Given the description of an element on the screen output the (x, y) to click on. 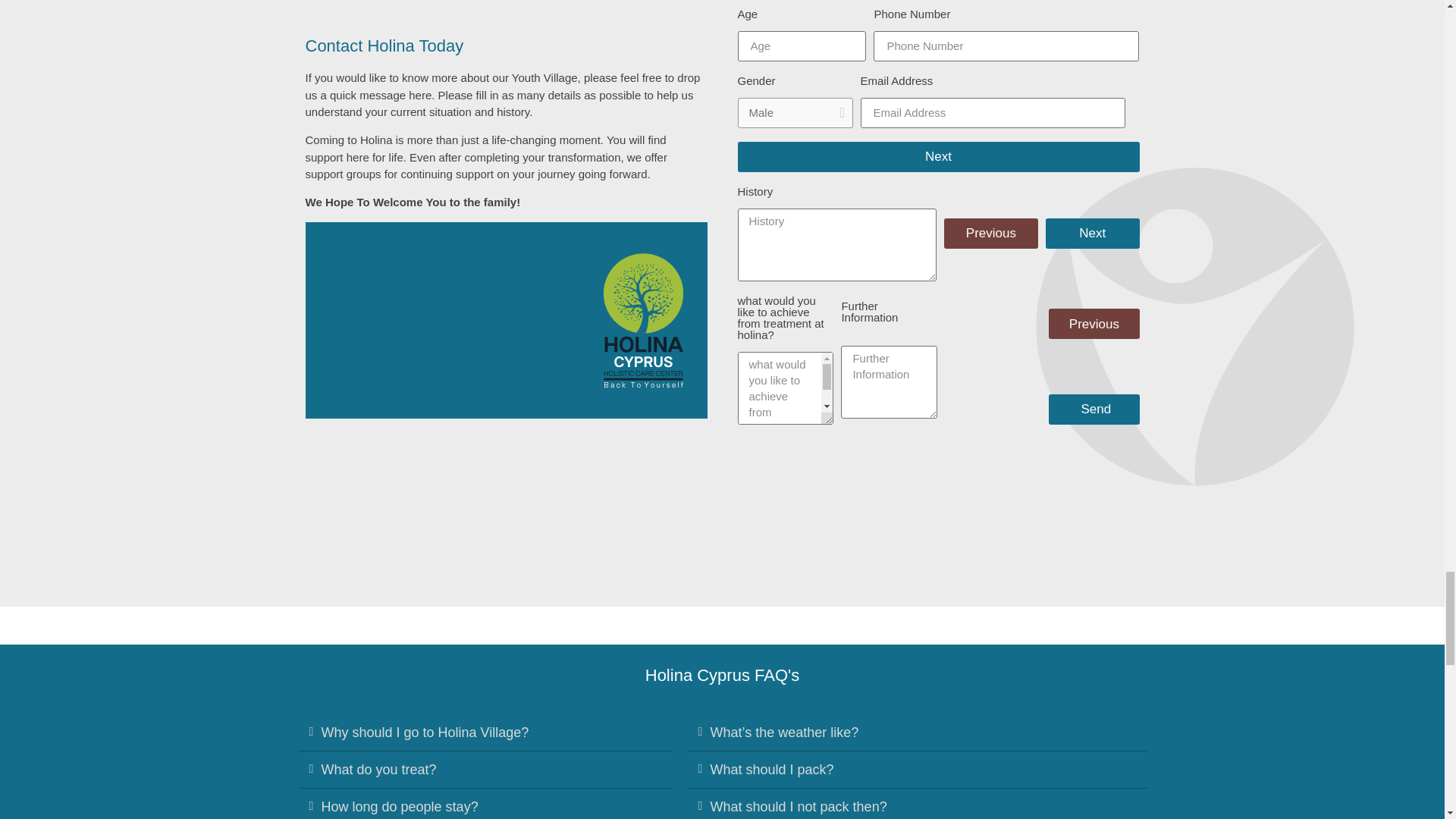
Next (937, 156)
Previous (1093, 323)
Why should I go to Holina Village? (425, 732)
What do you treat? (378, 769)
Previous (990, 233)
Next (1092, 233)
How long do people stay? (400, 806)
What should I not pack then? (798, 806)
Send (1093, 409)
What should I pack? (771, 769)
